Given the description of an element on the screen output the (x, y) to click on. 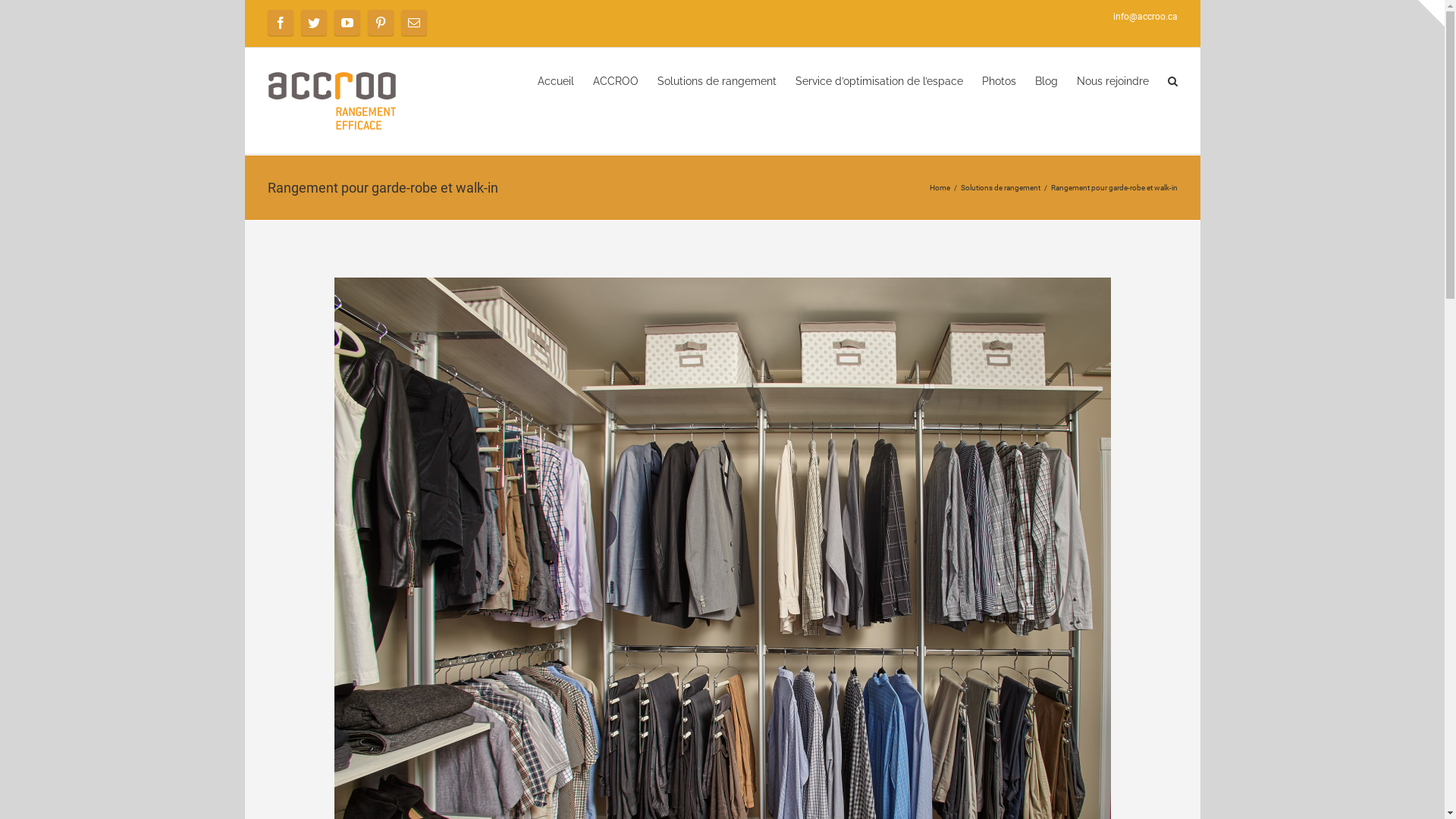
Solutions de rangement Element type: text (999, 187)
Youtube Element type: hover (346, 22)
Pinterest Element type: hover (379, 22)
Blog Element type: text (1045, 79)
Solutions de rangement Element type: text (715, 79)
Accueil Element type: text (554, 79)
ACCROO Element type: text (615, 79)
info@accroo.ca Element type: text (1145, 16)
Twitter Element type: hover (313, 22)
Photos Element type: text (998, 79)
Nous rejoindre Element type: text (1112, 79)
Facebook Element type: hover (279, 22)
Home Element type: text (939, 187)
Mail Element type: hover (413, 22)
